Given the description of an element on the screen output the (x, y) to click on. 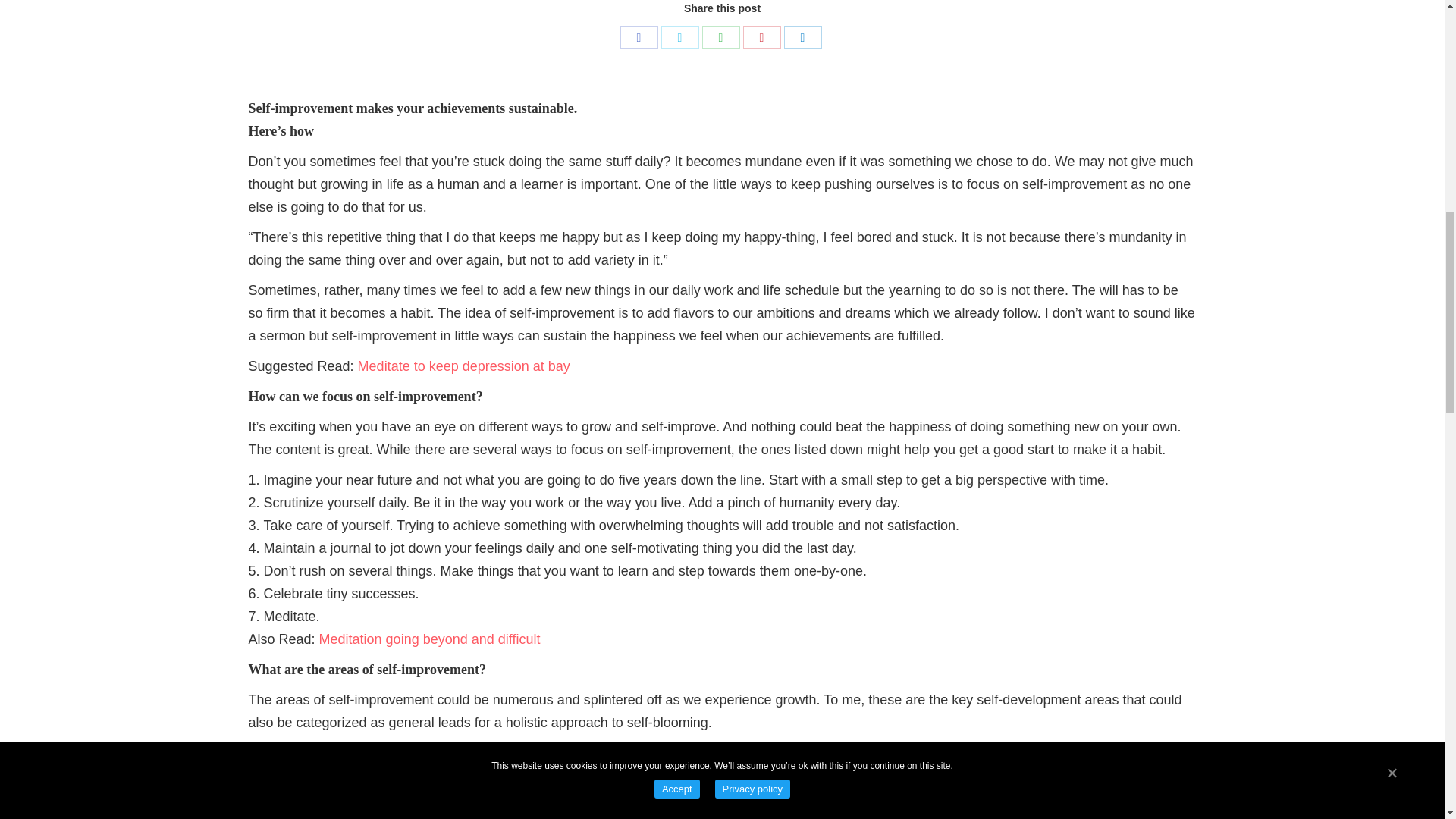
Pinterest (761, 36)
WhatsApp (720, 36)
Twitter (679, 36)
LinkedIn (803, 36)
Facebook (639, 36)
